Given the description of an element on the screen output the (x, y) to click on. 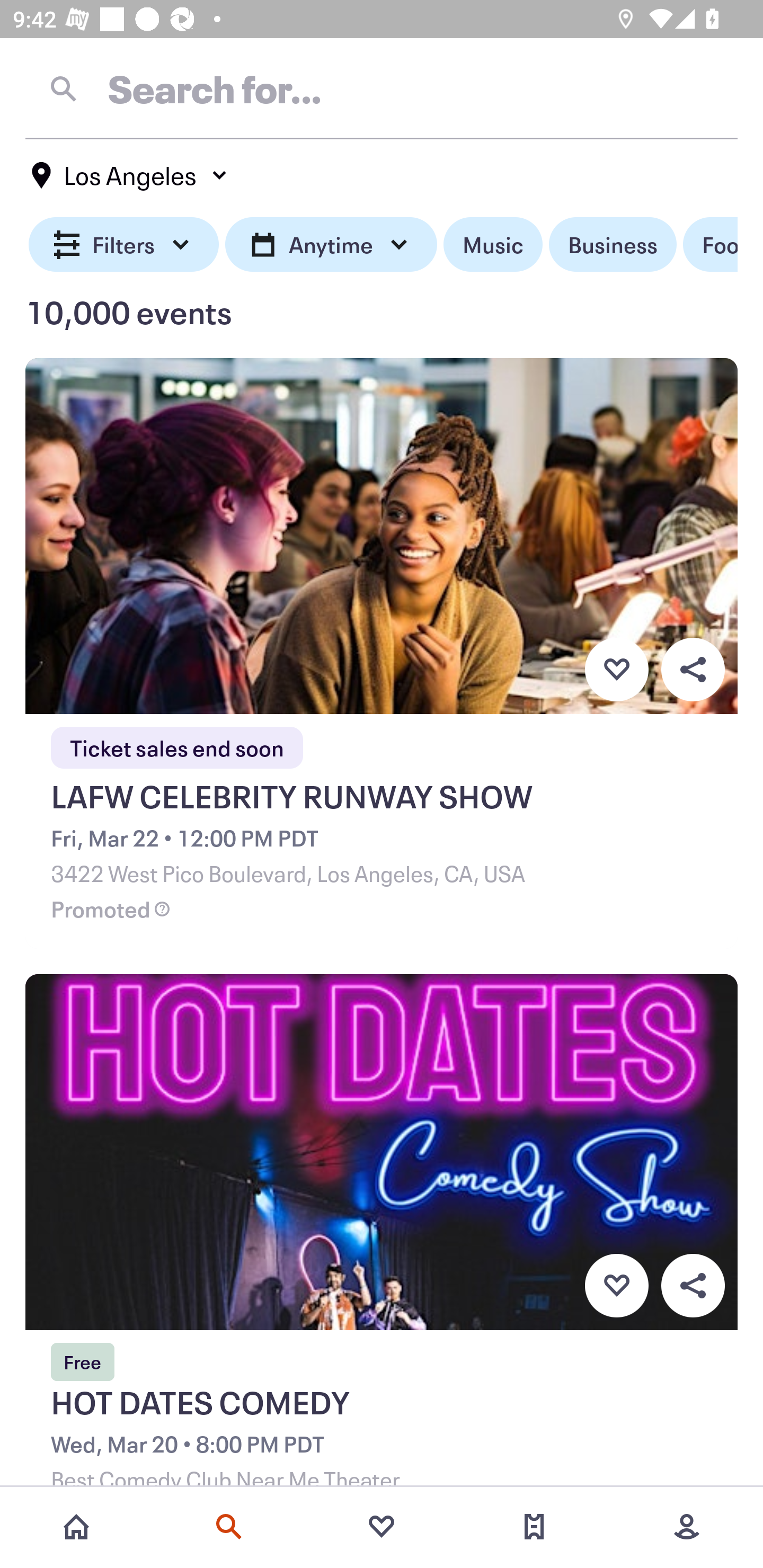
Search for… (381, 88)
Los Angeles (130, 175)
Filters (123, 244)
Anytime (331, 244)
Music (492, 244)
Business (612, 244)
Favorite button (616, 669)
Overflow menu button (692, 669)
Favorite button (616, 1285)
Overflow menu button (692, 1285)
Home (76, 1526)
Search events (228, 1526)
Favorites (381, 1526)
Tickets (533, 1526)
More (686, 1526)
